Given the description of an element on the screen output the (x, y) to click on. 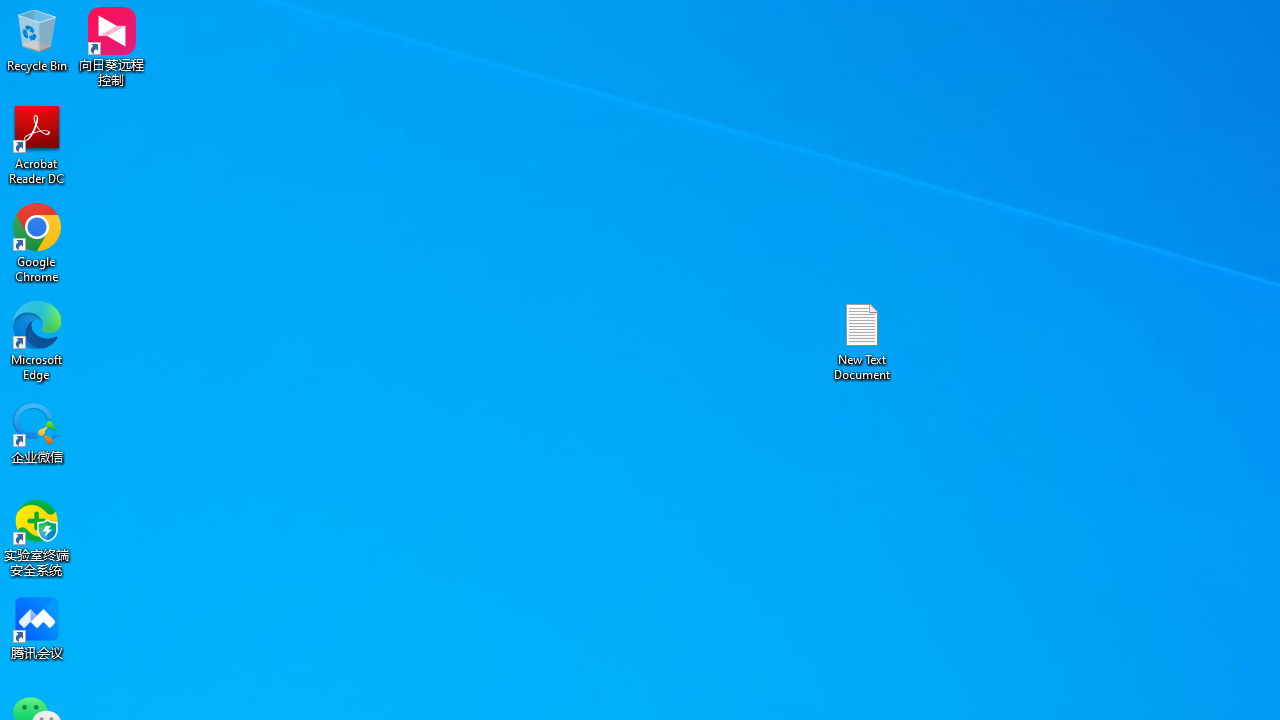
Acrobat Reader DC (37, 144)
New Text Document (861, 340)
Google Chrome (37, 242)
Microsoft Edge (37, 340)
Recycle Bin (37, 39)
